Given the description of an element on the screen output the (x, y) to click on. 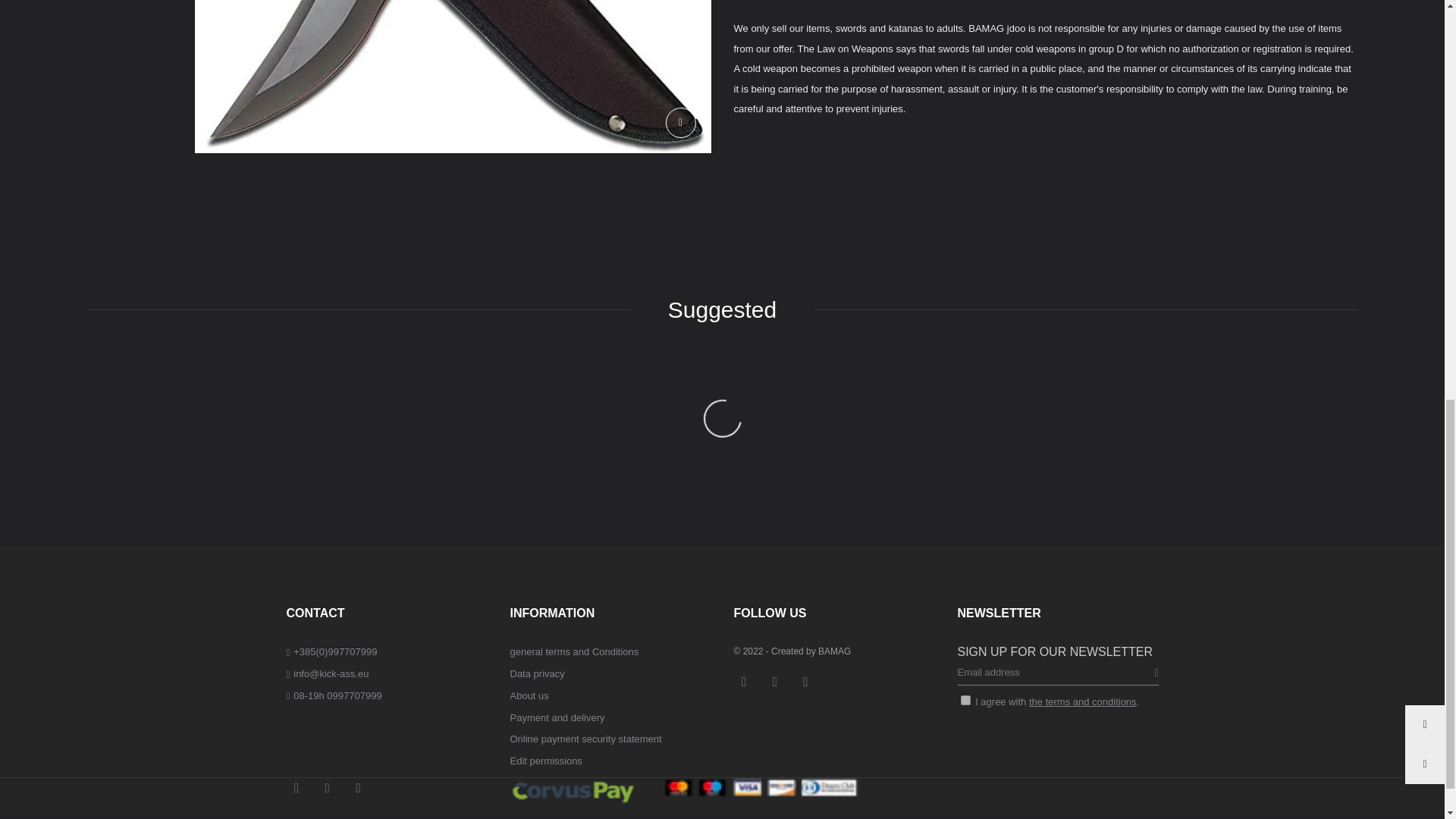
1 (964, 700)
